Given the description of an element on the screen output the (x, y) to click on. 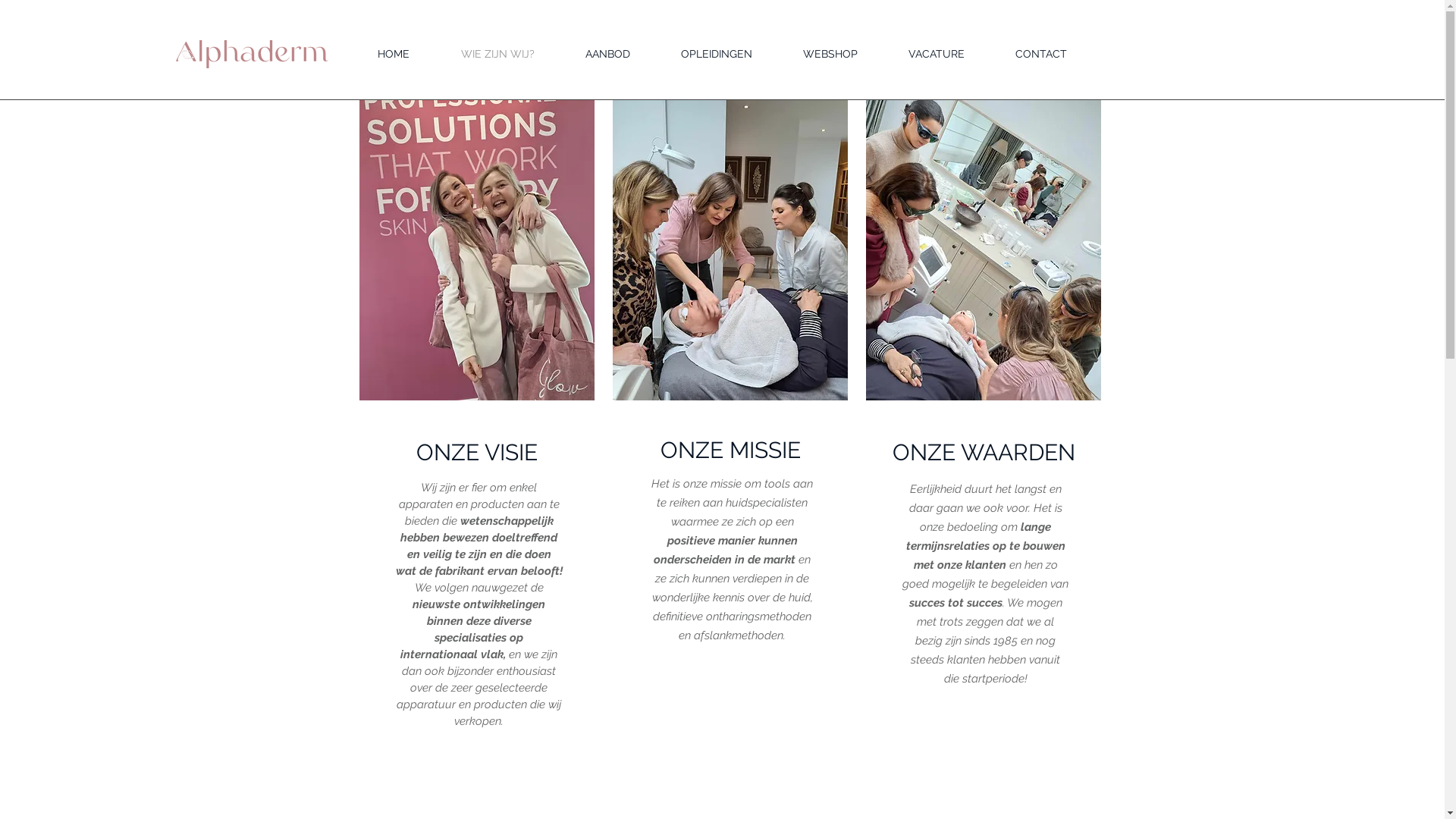
CONTACT Element type: text (1041, 54)
VACATURE Element type: text (935, 54)
OPLEIDINGEN Element type: text (715, 54)
WEBSHOP Element type: text (830, 54)
WIE ZIJN WIJ? Element type: text (496, 54)
HOME Element type: text (392, 54)
